Given the description of an element on the screen output the (x, y) to click on. 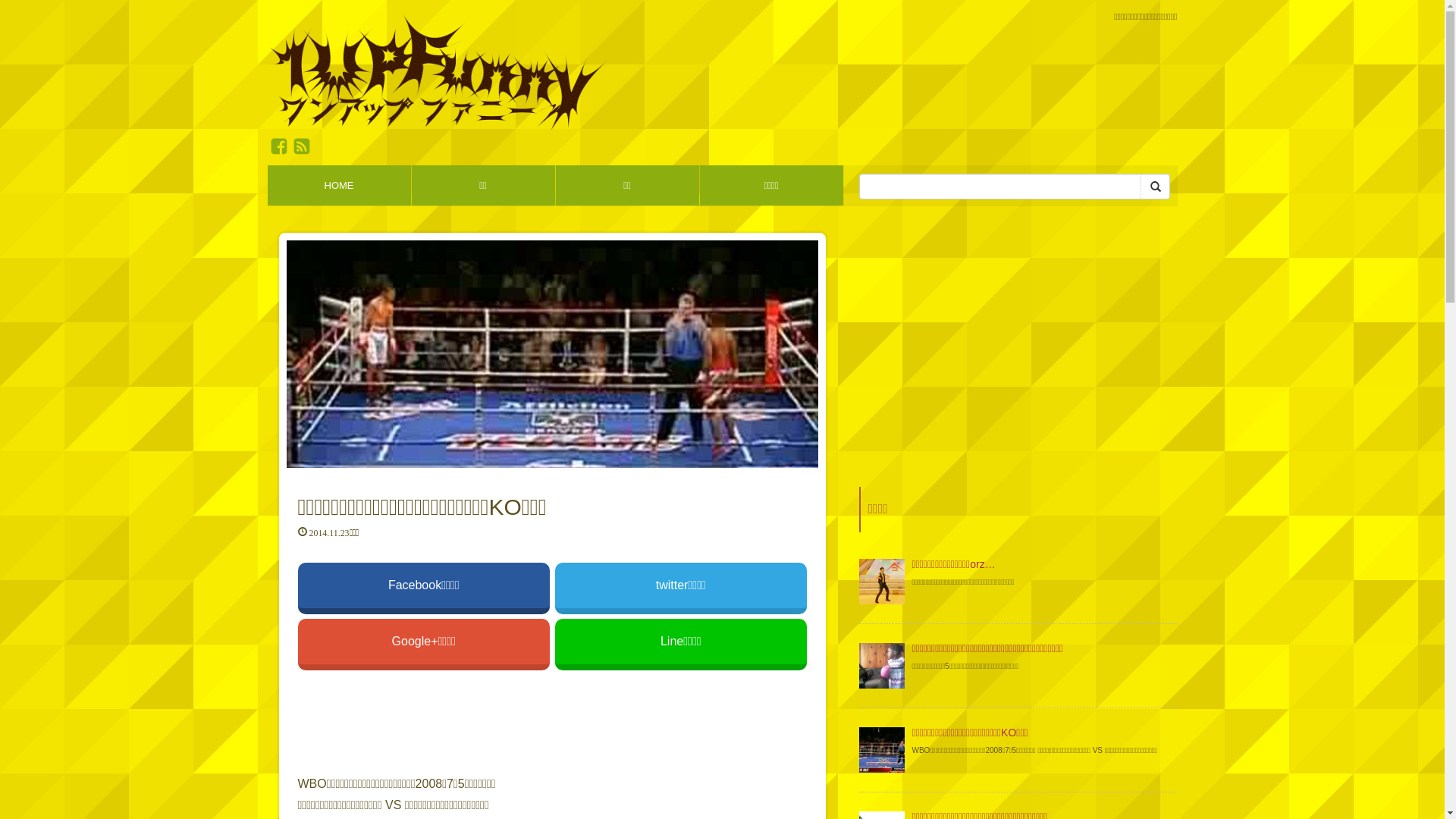
HOME Element type: text (338, 185)
Advertisement Element type: hover (551, 720)
Facebook Element type: text (277, 145)
Advertisement Element type: hover (1017, 357)
Advertisement Element type: hover (900, 87)
